Given the description of an element on the screen output the (x, y) to click on. 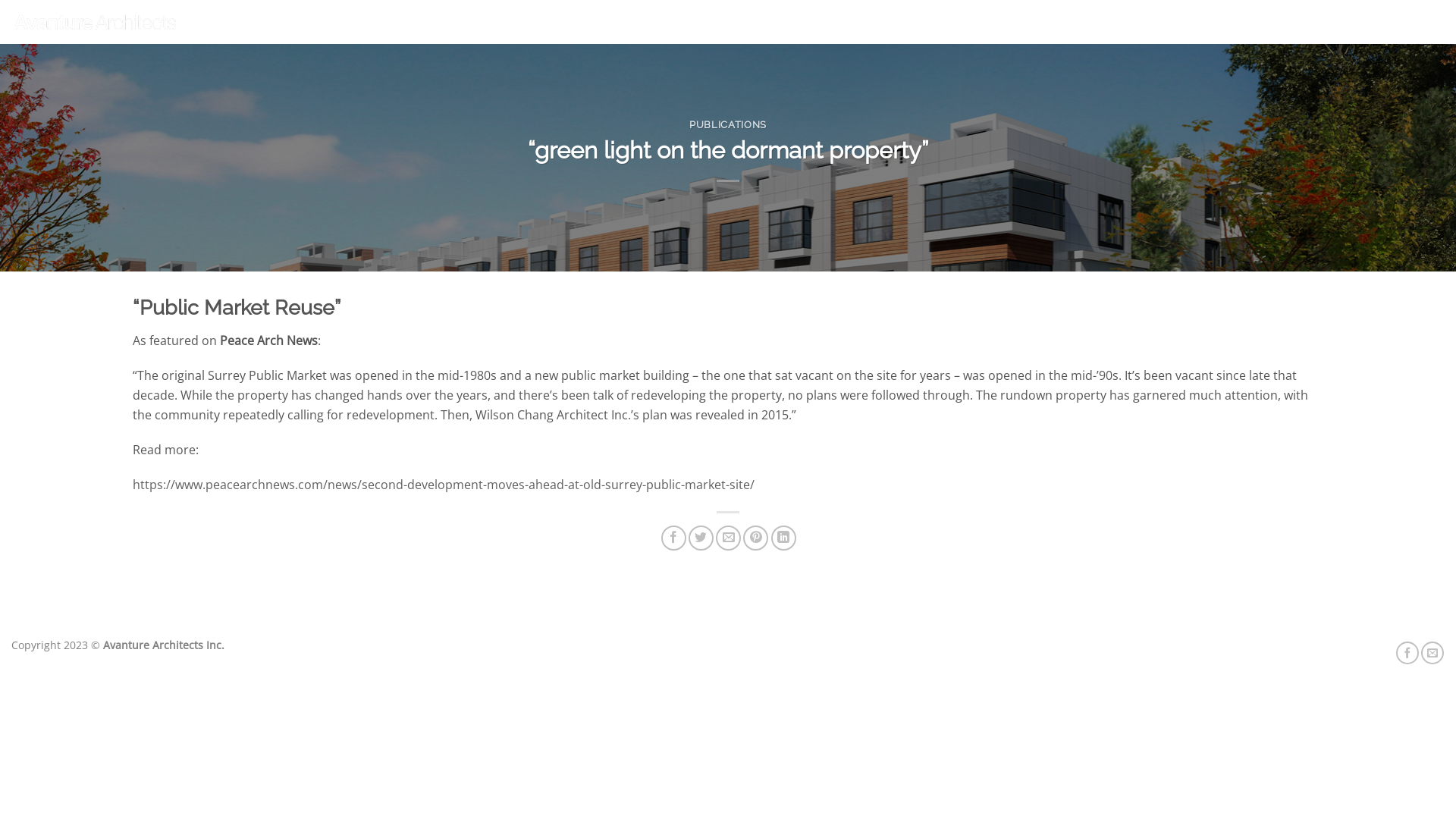
AWARDS & INNOVATION Element type: text (1320, 21)
ABOUT US Element type: text (1218, 21)
HOME Element type: text (1093, 21)
CONTACT Element type: text (1420, 21)
Avanture Architects - Avanture Architects Inc. Element type: hover (94, 21)
PROJECTS Element type: text (1150, 21)
PUBLICATIONS Element type: text (727, 124)
